Given the description of an element on the screen output the (x, y) to click on. 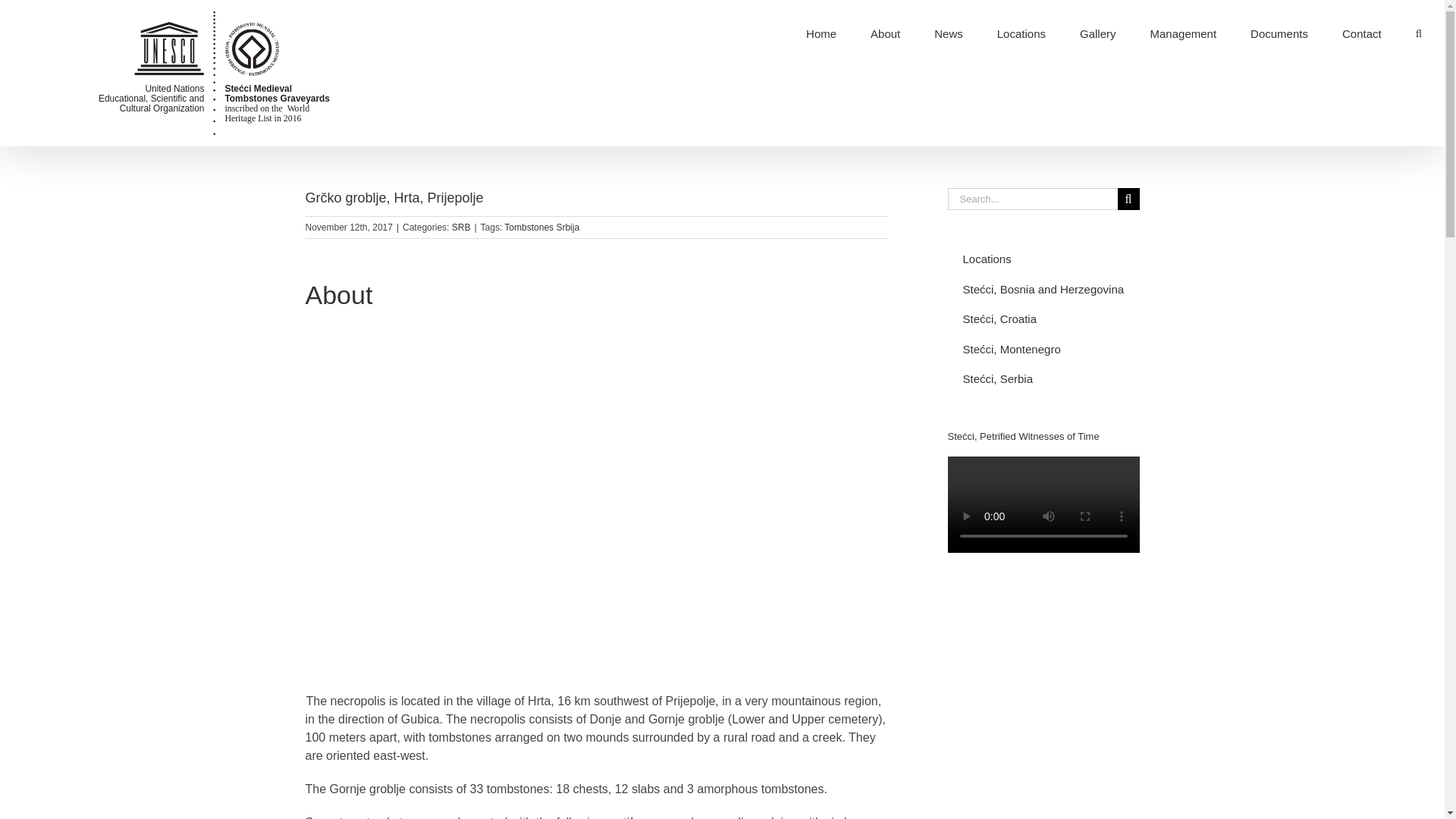
Back to Parent Page (1042, 259)
Tombstones Srbija (541, 226)
SRB (460, 226)
Management (1183, 32)
Locations (1042, 259)
